Given the description of an element on the screen output the (x, y) to click on. 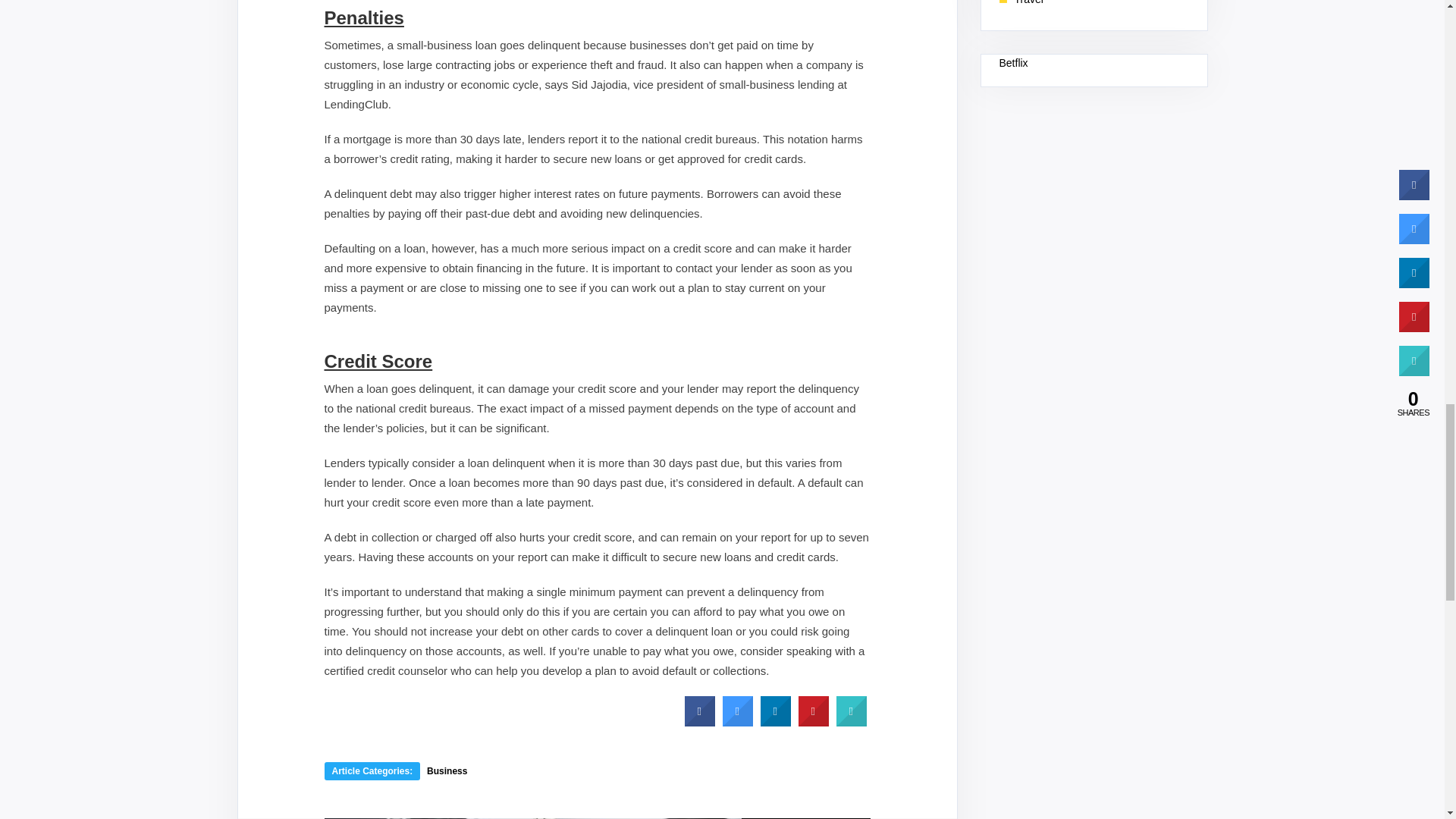
Print this page (850, 721)
Share on Facebook (699, 721)
Share on Pinterest (812, 721)
Share to LinkedIn (775, 721)
Share on Twitter (737, 721)
